Given the description of an element on the screen output the (x, y) to click on. 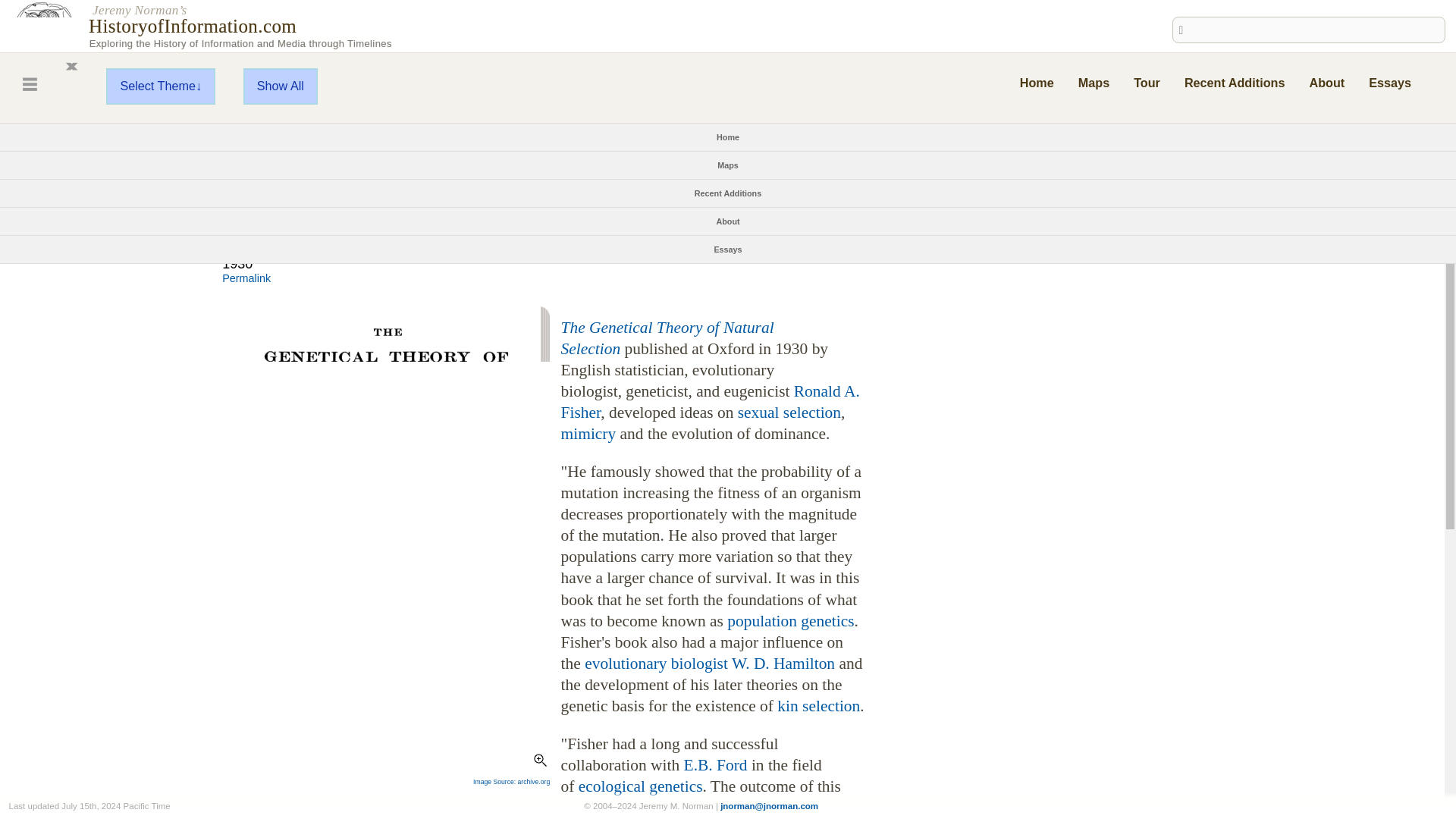
Essays (1389, 82)
Kin selection (818, 705)
About (1326, 82)
Show All (280, 85)
Ronald A. Fisher (710, 401)
Population genetics (789, 620)
Evolutionary biologist (656, 663)
W. D. Hamilton (783, 663)
E.B. Ford (716, 764)
W. D. Hamilton (783, 663)
ecological genetics (640, 786)
Select Theme (160, 85)
The Genetical Theory of Natural Selection (667, 337)
Image Source: archive.org (511, 781)
Maps (727, 164)
